Given the description of an element on the screen output the (x, y) to click on. 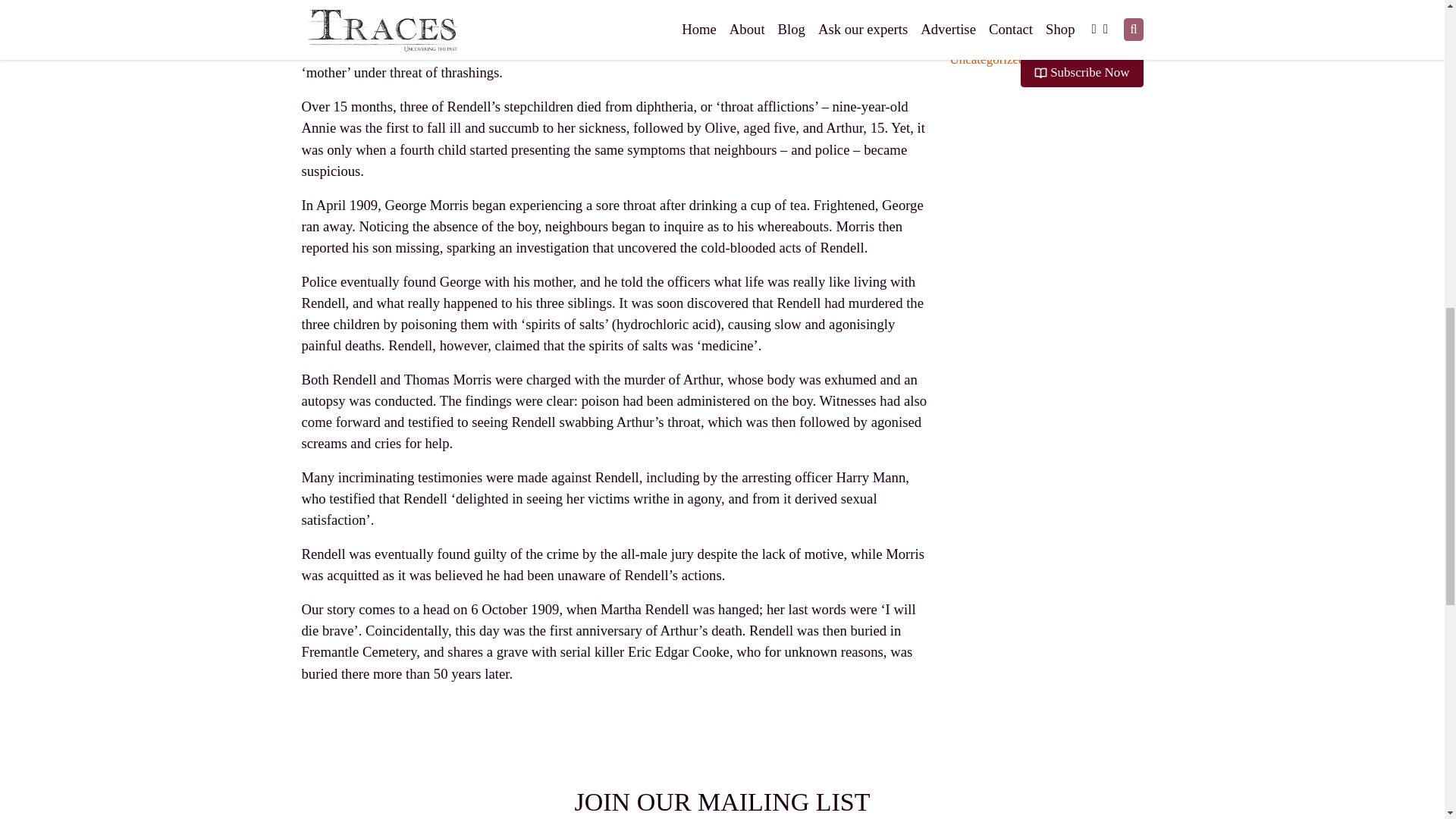
Uncategorized (987, 59)
Book reviews (984, 4)
Featured (971, 20)
General News (986, 39)
